Given the description of an element on the screen output the (x, y) to click on. 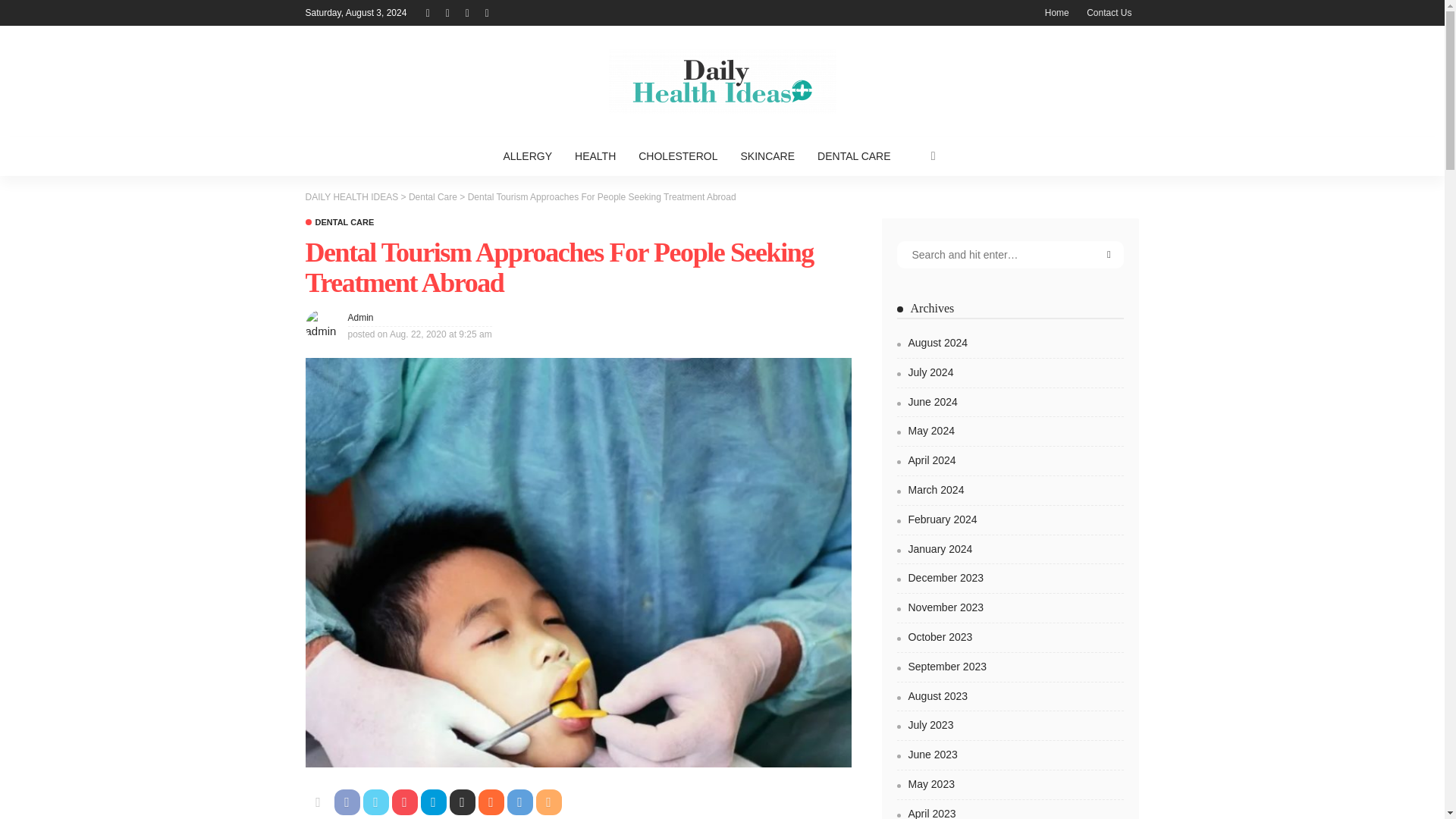
DAILY HEALTH IDEAS (721, 80)
Go to DAILY HEALTH IDEAS. (350, 196)
Go to the Dental Care Category archives. (433, 196)
search (933, 156)
Dental Care (339, 222)
